Given the description of an element on the screen output the (x, y) to click on. 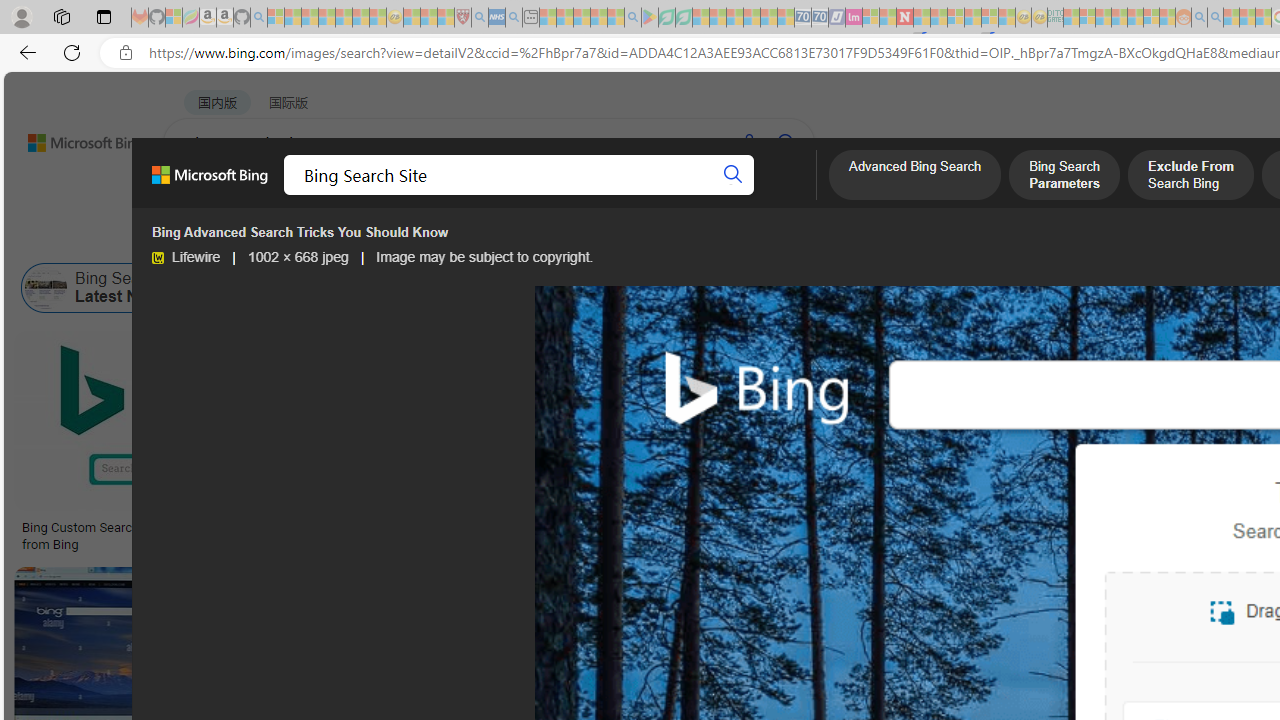
Class: b_pri_nav_svg (423, 196)
ACADEMIC (635, 195)
Bing as Search Engine (301, 287)
People (521, 237)
Microsoft Bing Search (1195, 287)
Bing Search Latest News (105, 287)
ACADEMIC (635, 195)
Bing Searches Today (502, 287)
Image result for Bing Search Site (492, 421)
